Given the description of an element on the screen output the (x, y) to click on. 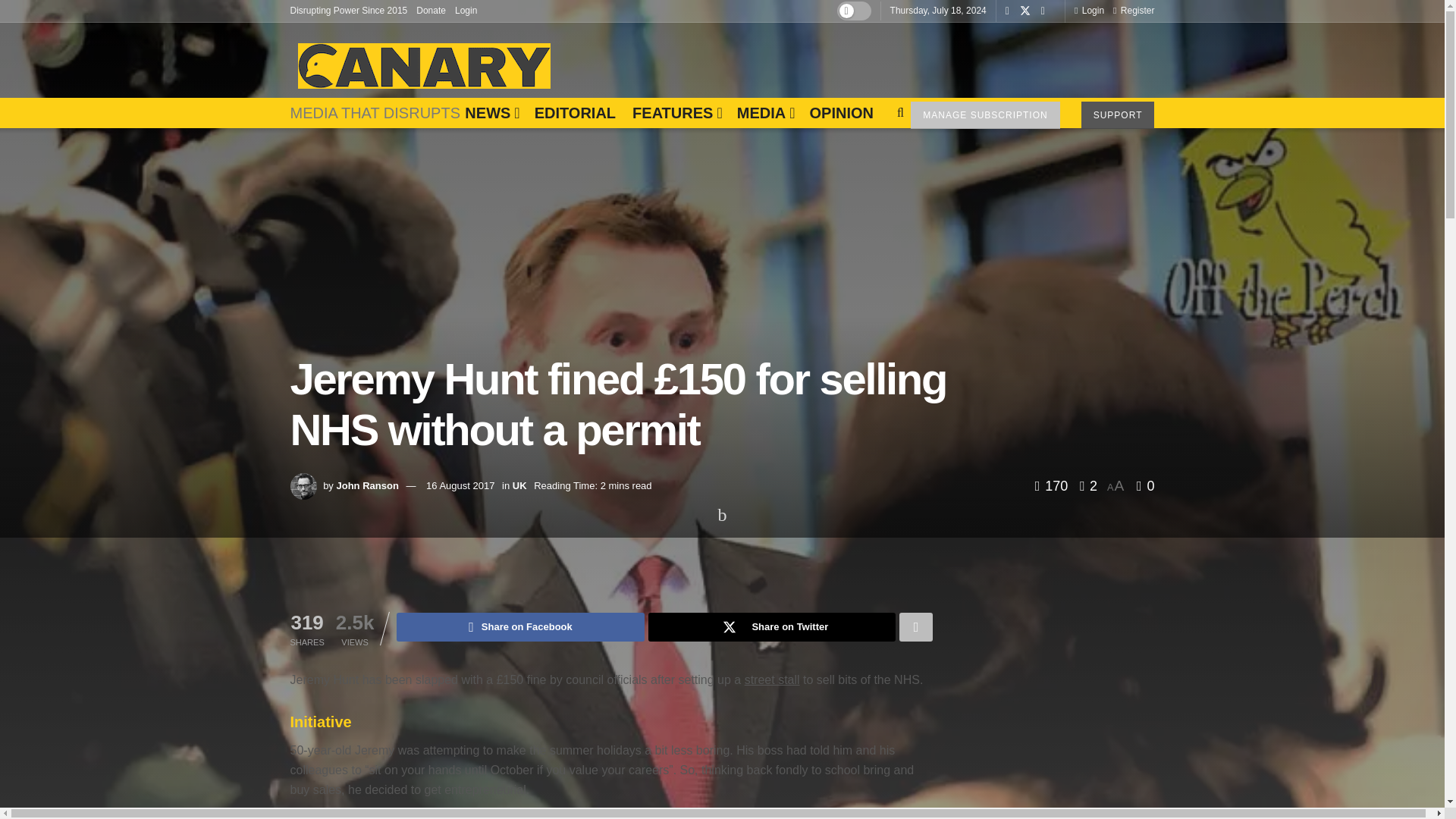
EDITORIAL (574, 112)
MEDIA (764, 112)
Register (1133, 11)
Login (1088, 11)
Advertisement (878, 56)
Donate (430, 11)
FEATURES (675, 112)
SUPPORT (1117, 114)
NEWS (490, 112)
OPINION (840, 112)
MANAGE SUBSCRIPTION (985, 114)
Disrupting Power Since 2015 (348, 11)
Login (465, 11)
